Given the description of an element on the screen output the (x, y) to click on. 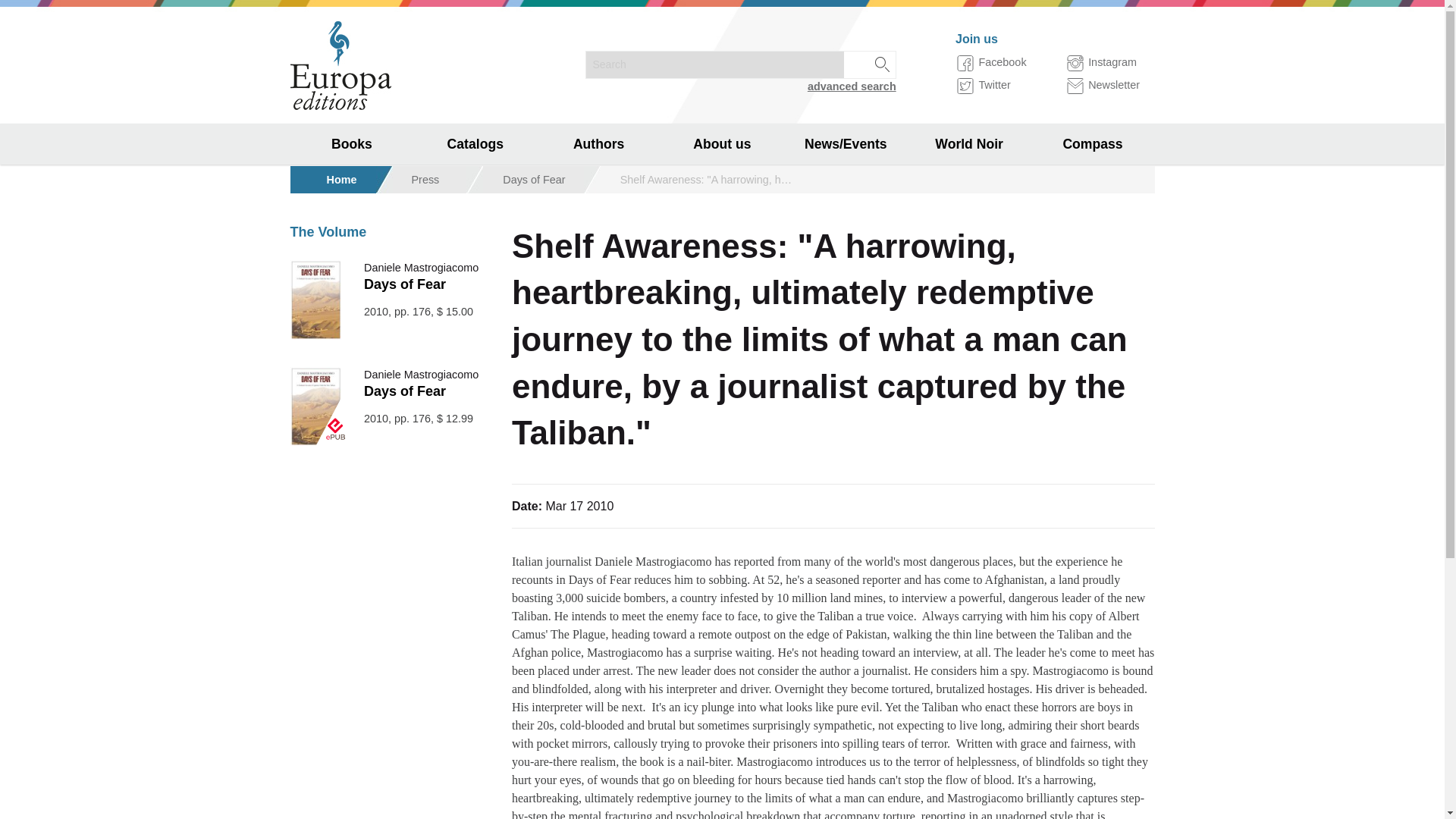
Days of Fear (404, 283)
Events (845, 225)
By Country (351, 307)
Press (424, 179)
News (845, 184)
World Noir (351, 348)
Ebooks (351, 266)
Days of Fear (533, 179)
Home (341, 179)
Newest (351, 184)
Catalogs (475, 143)
Compass (1092, 143)
Europa Compass (351, 389)
Days of Fear (404, 391)
Books (351, 143)
